Given the description of an element on the screen output the (x, y) to click on. 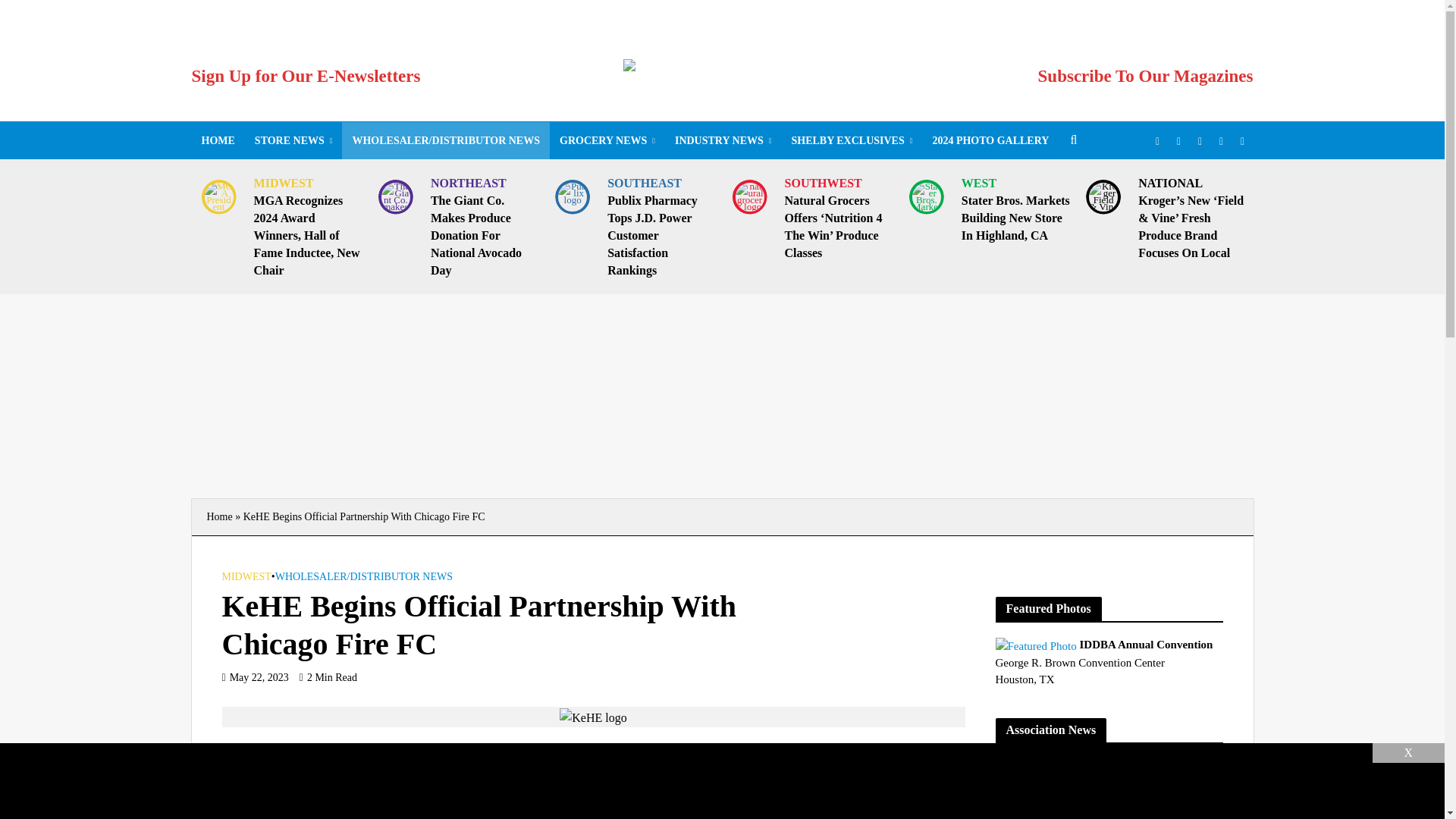
Subscribe To Our Magazines (1145, 76)
STORE NEWS (293, 140)
Sign Up for Our E-Newsletters (305, 76)
INDUSTRY NEWS (723, 140)
SHELBY EXCLUSIVES (850, 140)
HOME (217, 140)
GROCERY NEWS (607, 140)
